Given the description of an element on the screen output the (x, y) to click on. 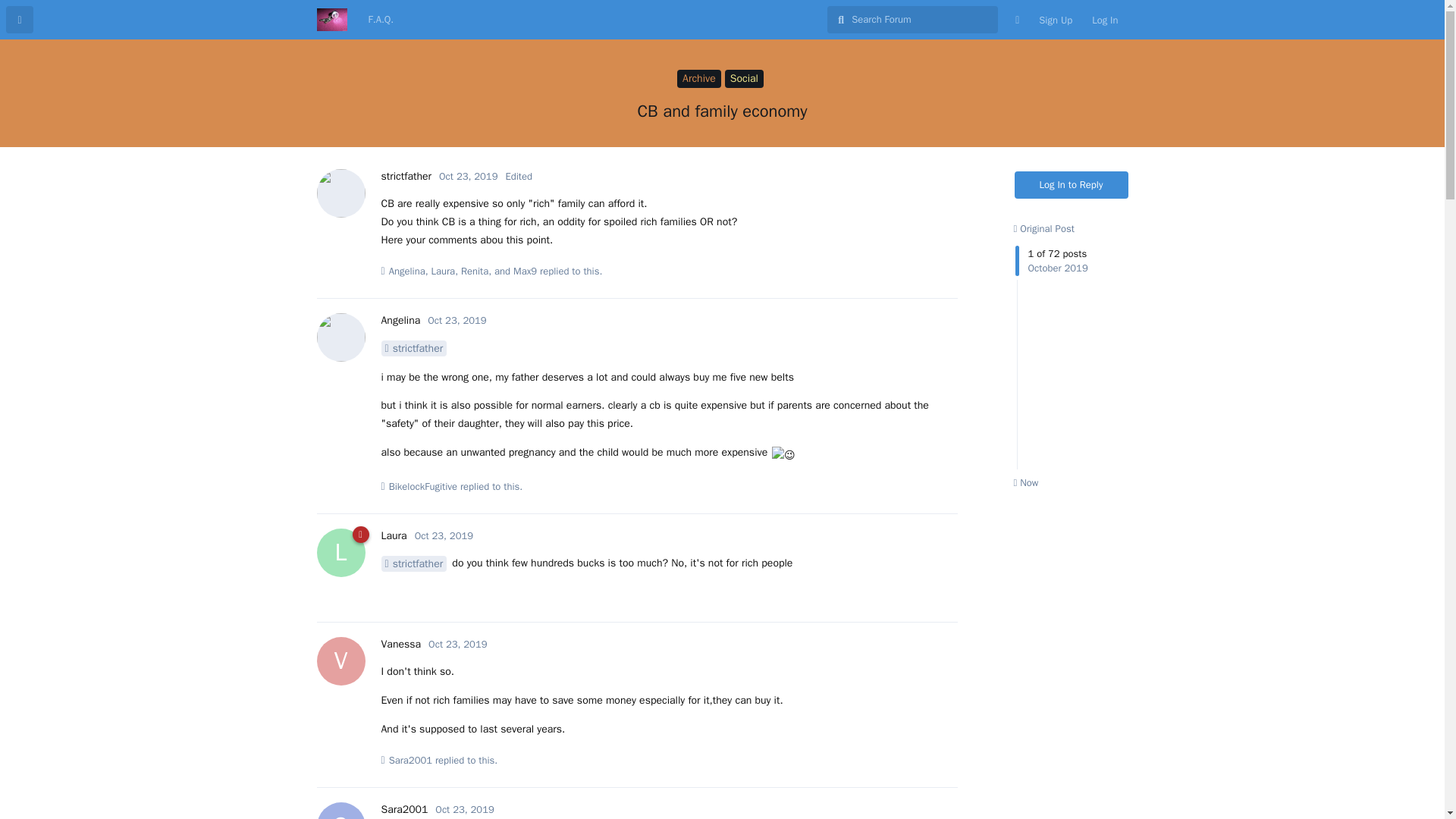
Oct 23, 2019 (457, 644)
Wednesday, October 23, 2019 7:46 AM (443, 535)
Oct 23, 2019 (464, 809)
Sign Up (1055, 19)
strictfather (405, 175)
Oct 23, 2019 (457, 319)
Wednesday, October 23, 2019 12:49 PM (464, 809)
Angelina (400, 319)
F.A.Q. (380, 19)
